Given the description of an element on the screen output the (x, y) to click on. 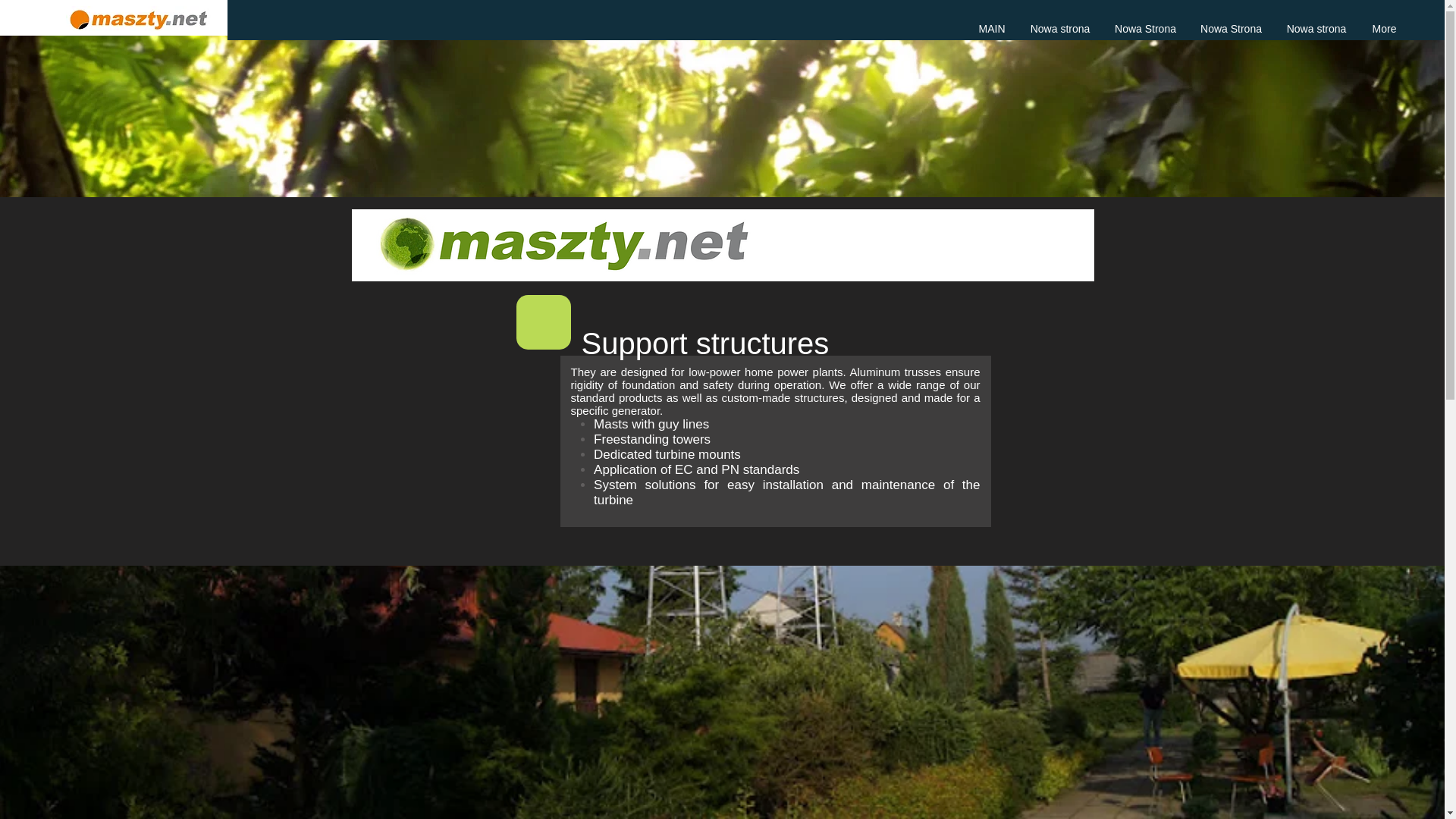
Nowa strona (1059, 28)
Nowa Strona (1231, 28)
Nowa Strona (1145, 28)
MAIN (991, 28)
Nowa strona (1316, 28)
